Given the description of an element on the screen output the (x, y) to click on. 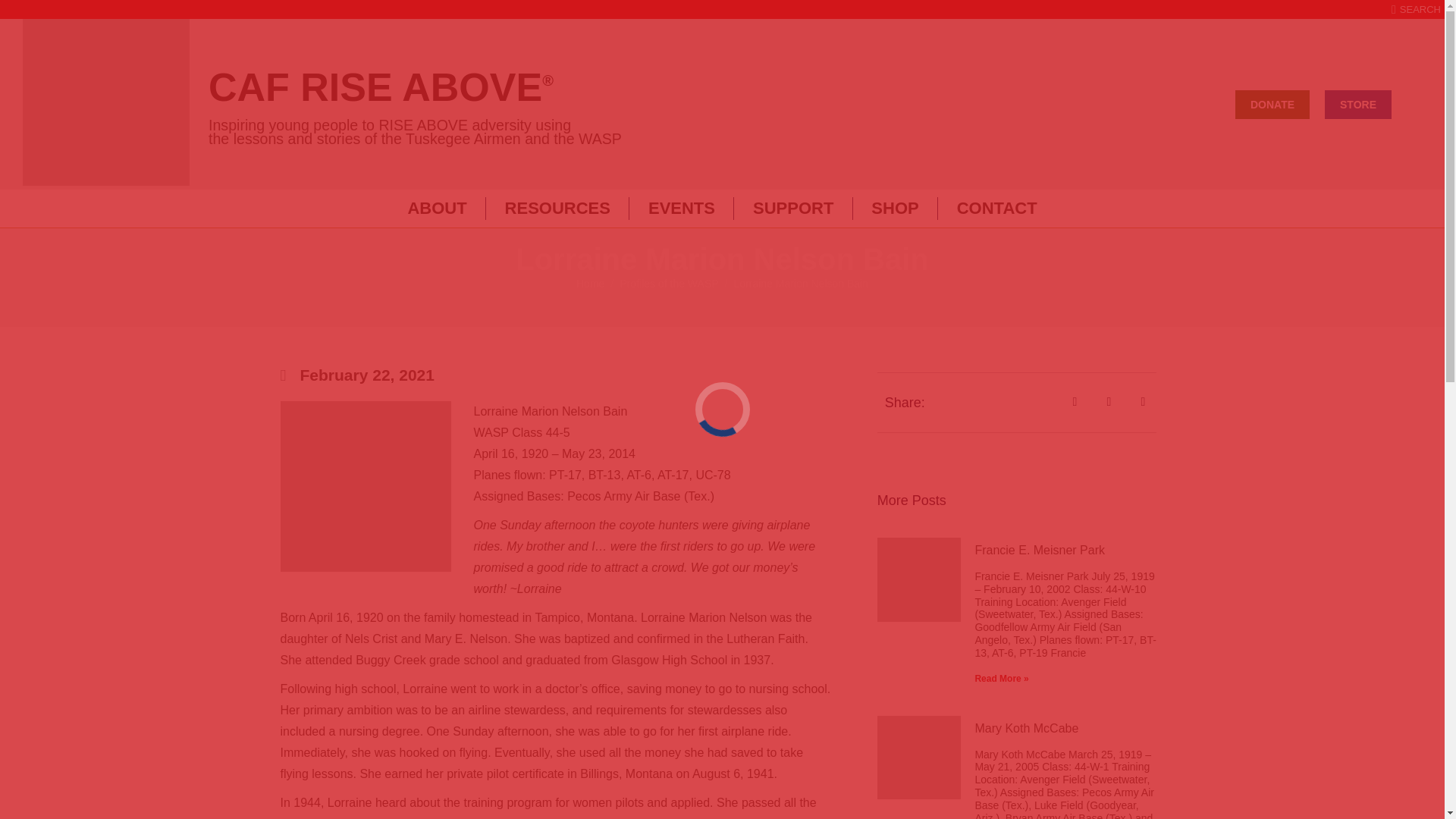
DONATE (1271, 103)
Home (590, 283)
Profiles of the WASP (668, 283)
RESOURCES (557, 208)
SEARCH (1416, 9)
Go! (24, 16)
ABOUT (436, 208)
STORE (1357, 103)
